Given the description of an element on the screen output the (x, y) to click on. 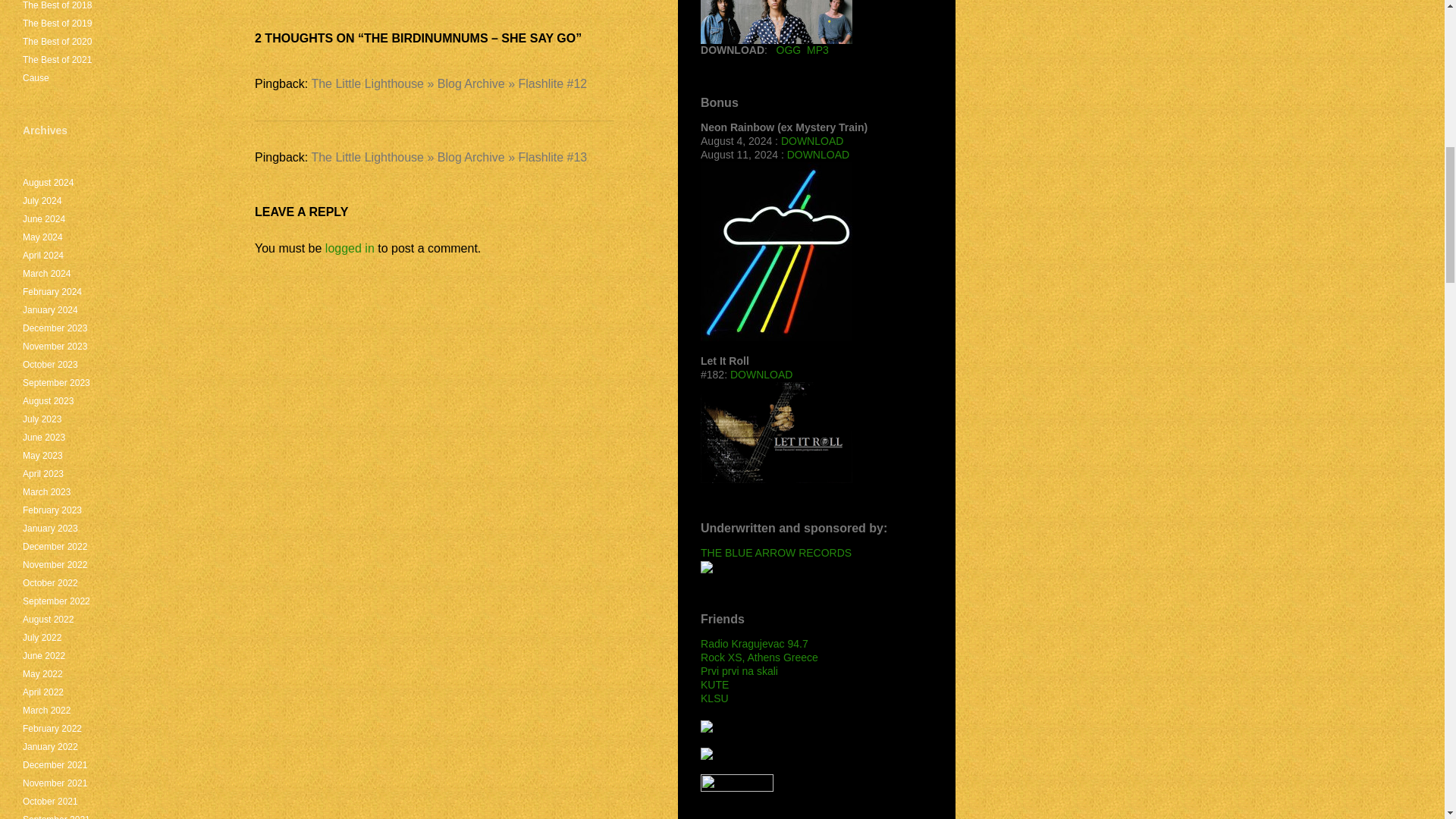
Rock XS, Athens Greece (759, 657)
OGG (789, 50)
Radio Kragujevac 94.7 (754, 644)
THE BLUE ARROW RECORDS (775, 559)
DOWNLOAD (761, 374)
DOWNLOAD (811, 141)
MP3 (817, 50)
logged in (349, 247)
DOWNLOAD (817, 154)
